Given the description of an element on the screen output the (x, y) to click on. 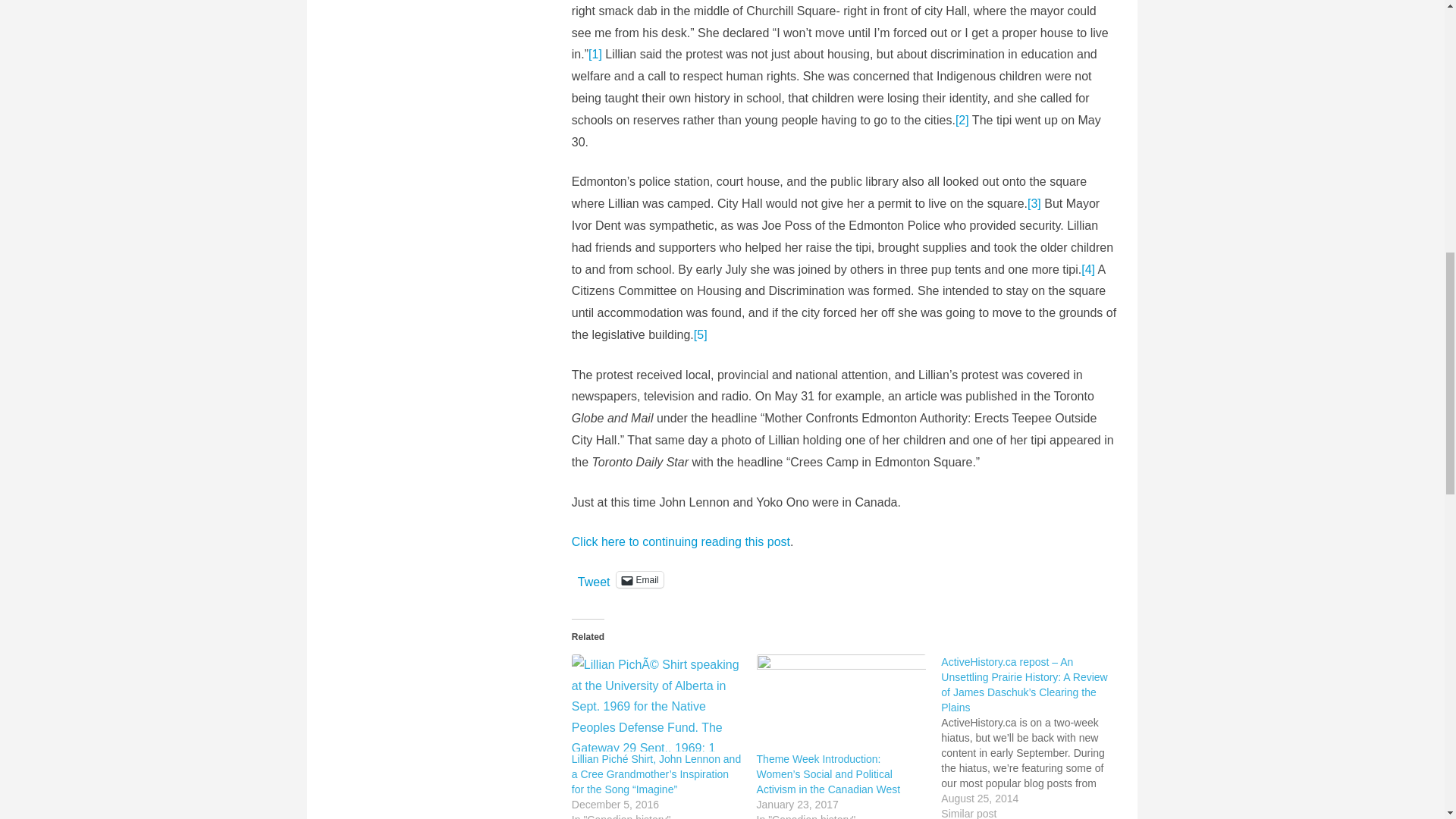
Email (638, 579)
Click to email a link to a friend (638, 579)
Click here to continuing reading this post (681, 541)
Tweet (594, 578)
